Given the description of an element on the screen output the (x, y) to click on. 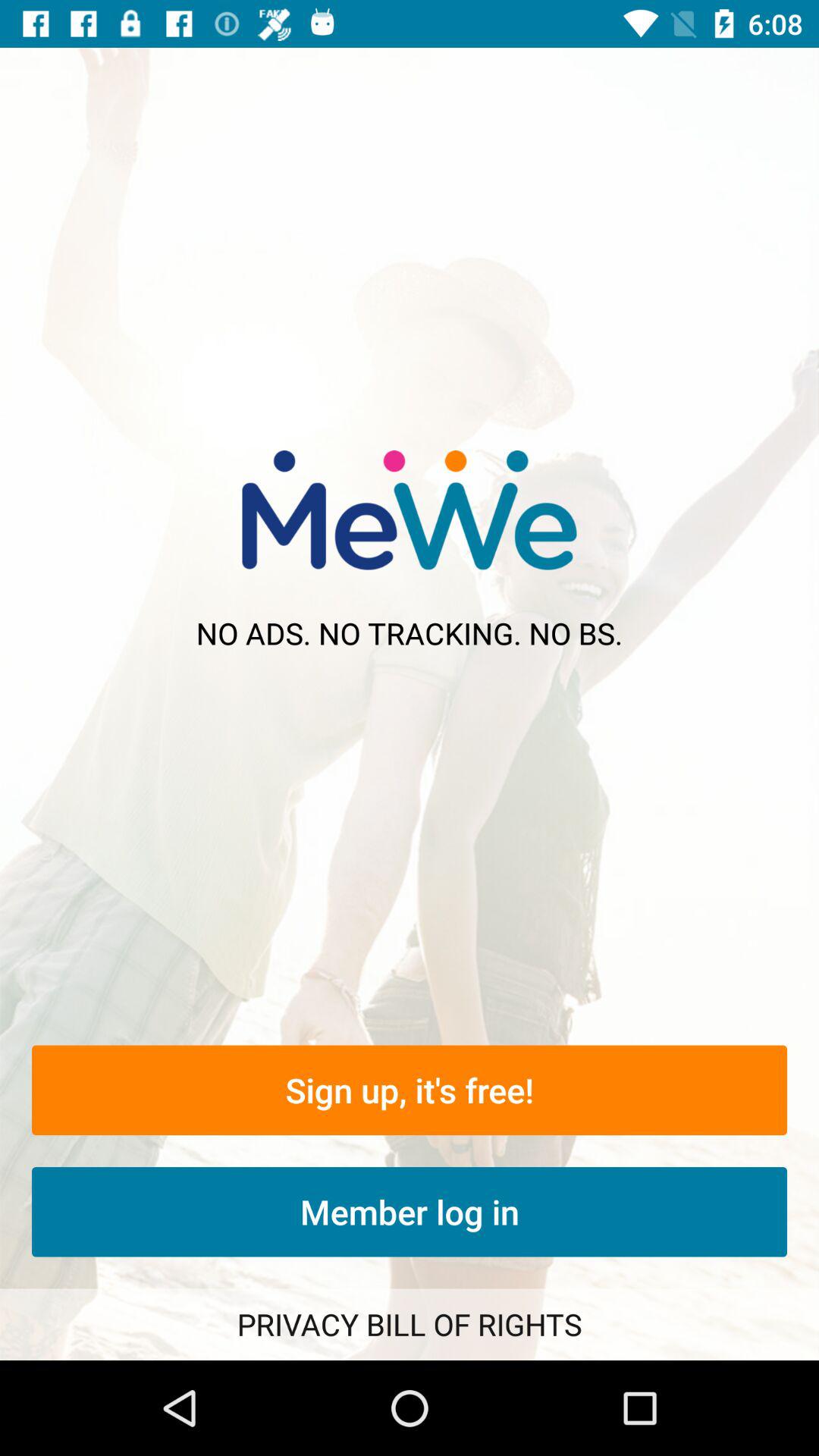
swipe to the member log in icon (409, 1211)
